Given the description of an element on the screen output the (x, y) to click on. 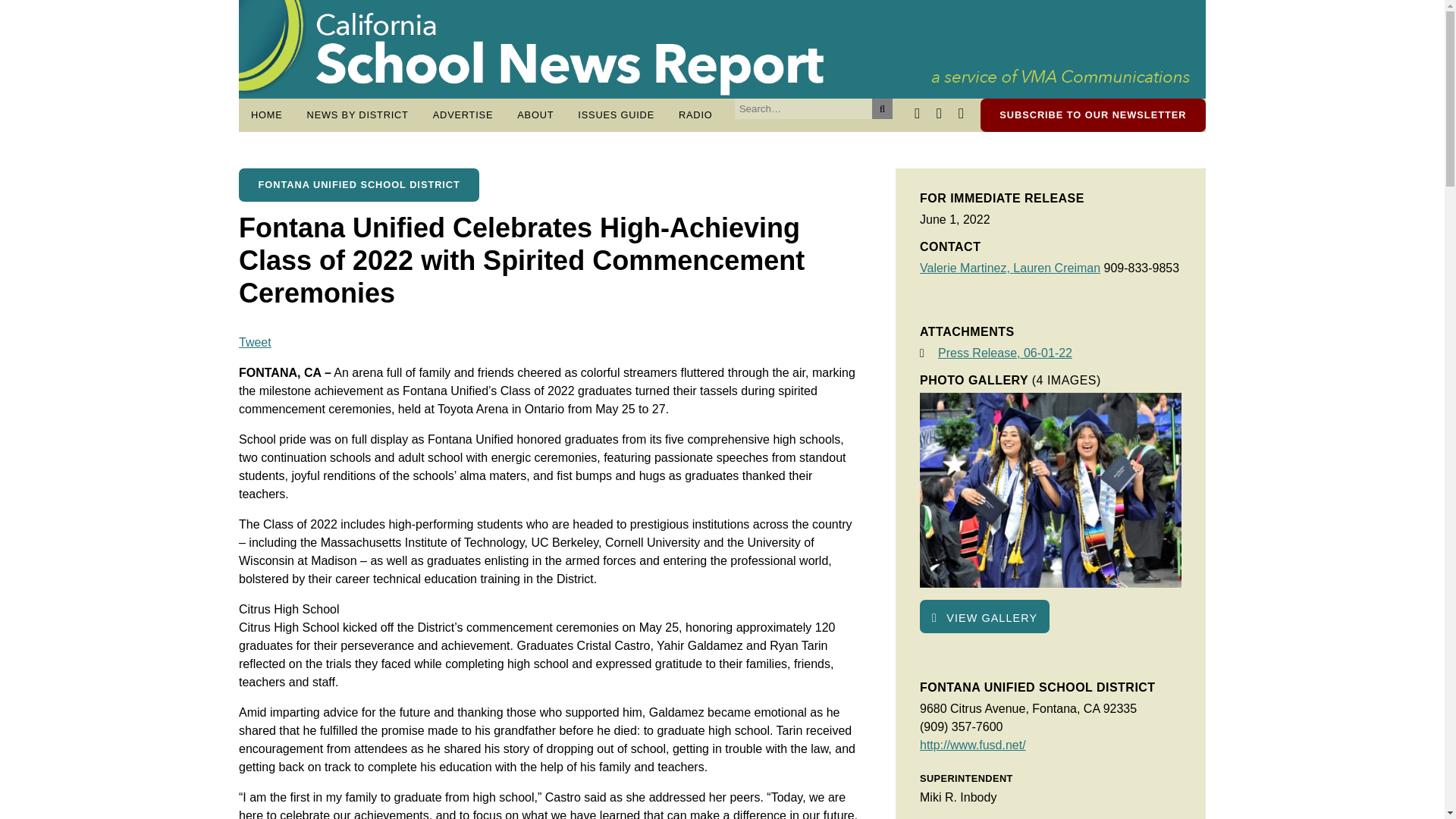
Search for: (803, 108)
News by District (357, 114)
ADVERTISE (462, 114)
RADIO (695, 114)
HOME (266, 114)
ISSUES GUIDE (616, 114)
ABOUT (535, 114)
FONTANA UNIFIED SCHOOL DISTRICT (358, 184)
Tweet (254, 341)
NEWS BY DISTRICT (357, 114)
